Given the description of an element on the screen output the (x, y) to click on. 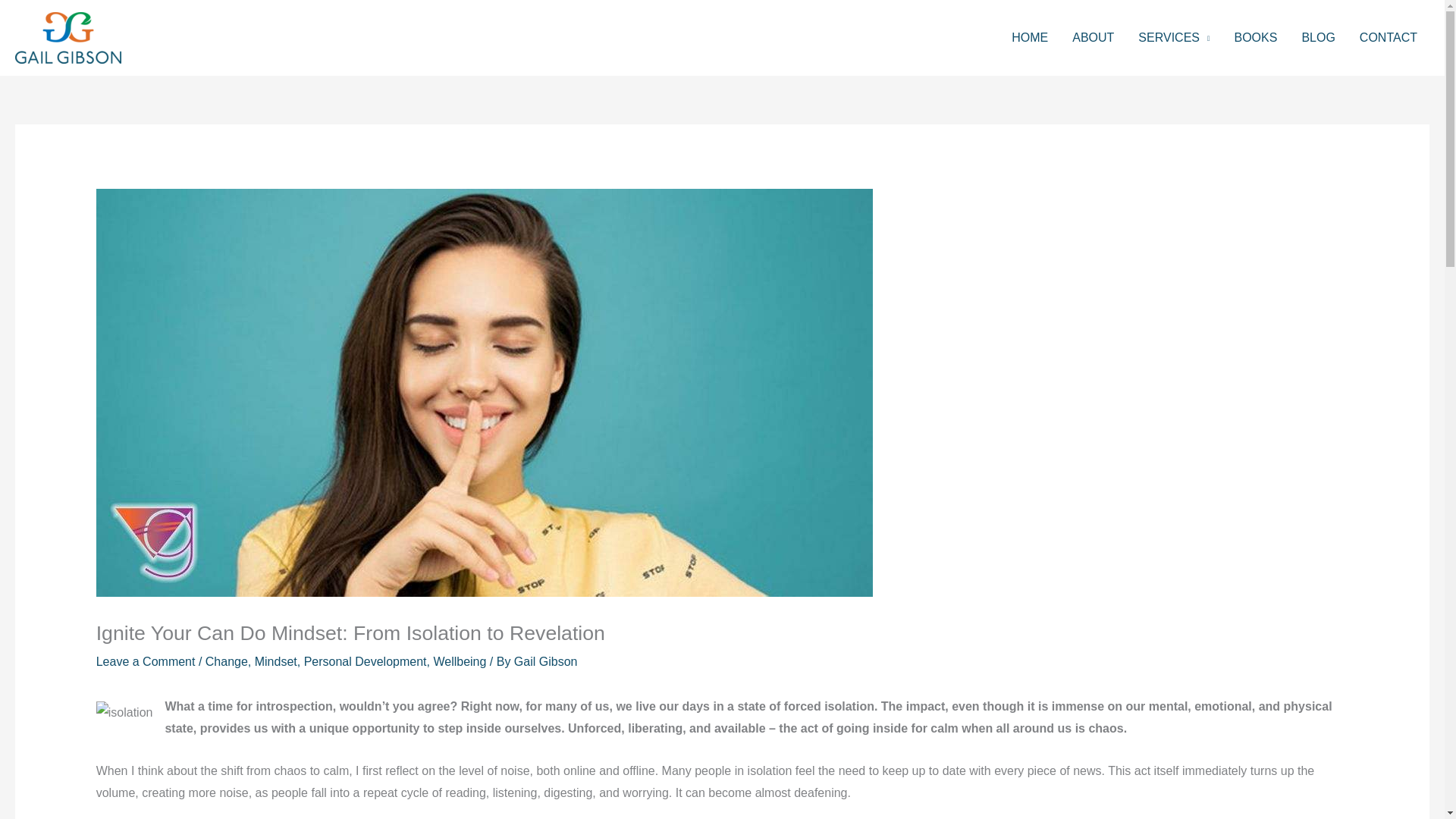
Mindset (275, 661)
ABOUT (1092, 37)
View all posts by Gail Gibson (545, 661)
CONTACT (1388, 37)
Gail Gibson (545, 661)
SERVICES (1173, 37)
HOME (1028, 37)
Change (226, 661)
Wellbeing (459, 661)
BOOKS (1254, 37)
Leave a Comment (145, 661)
BLOG (1317, 37)
Personal Development (365, 661)
